Given the description of an element on the screen output the (x, y) to click on. 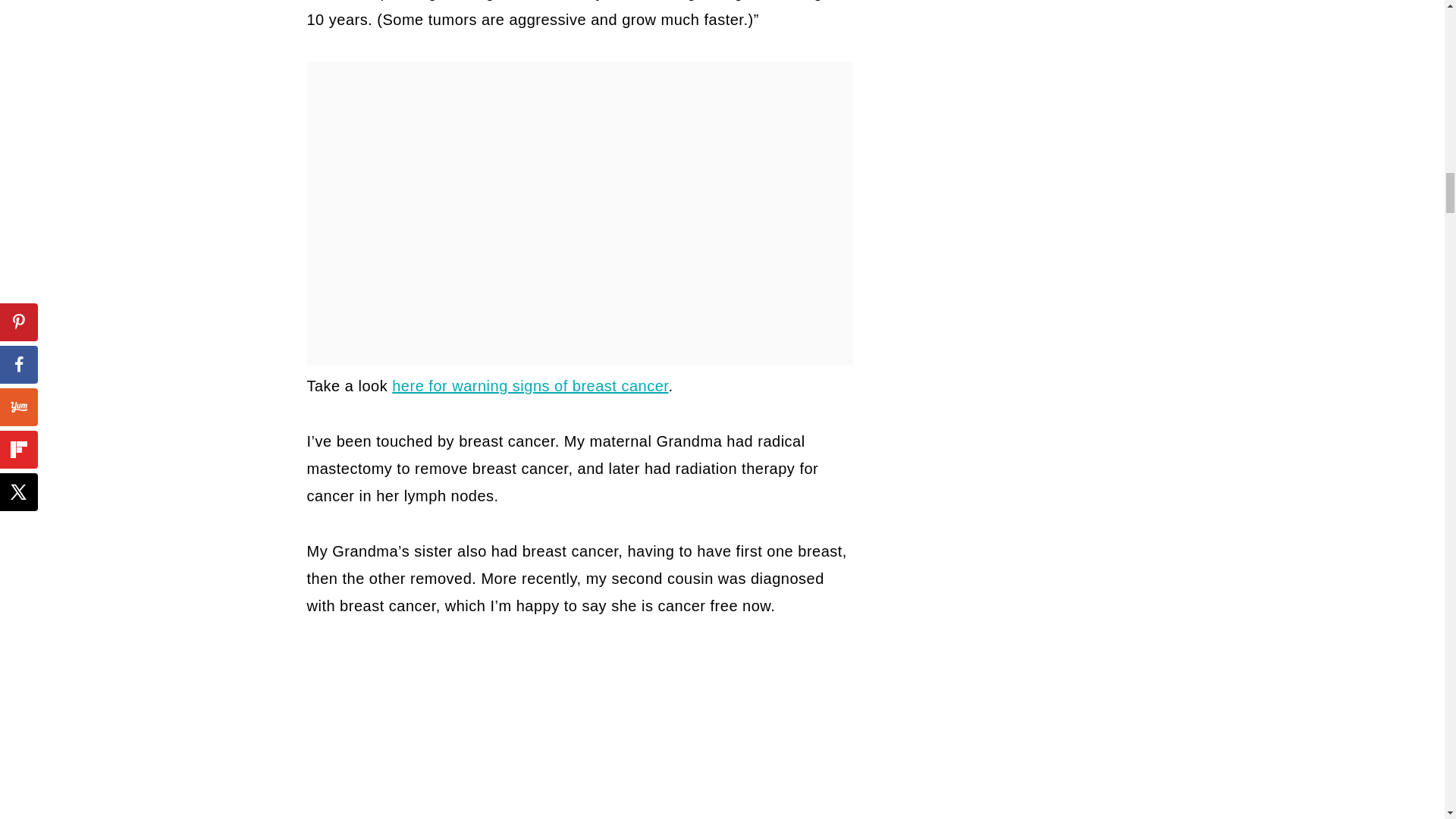
here for warning signs of breast cancer (529, 385)
